Given the description of an element on the screen output the (x, y) to click on. 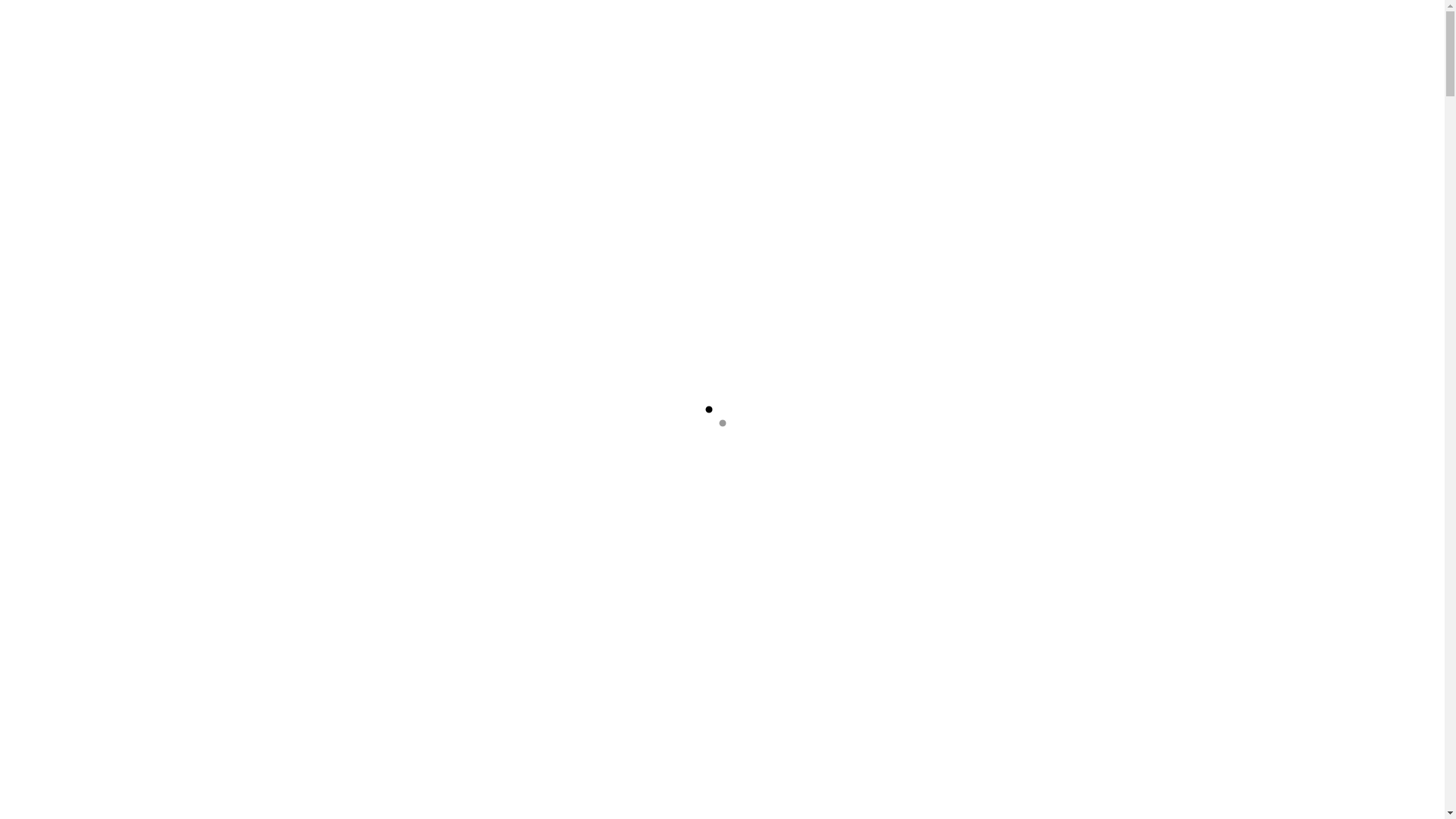
HOME Element type: text (109, 37)
REALISATIES Element type: text (379, 37)
DIENSTEN Element type: text (279, 37)
CONTACT Element type: text (474, 37)
OVER ONS Element type: text (185, 37)
